Given the description of an element on the screen output the (x, y) to click on. 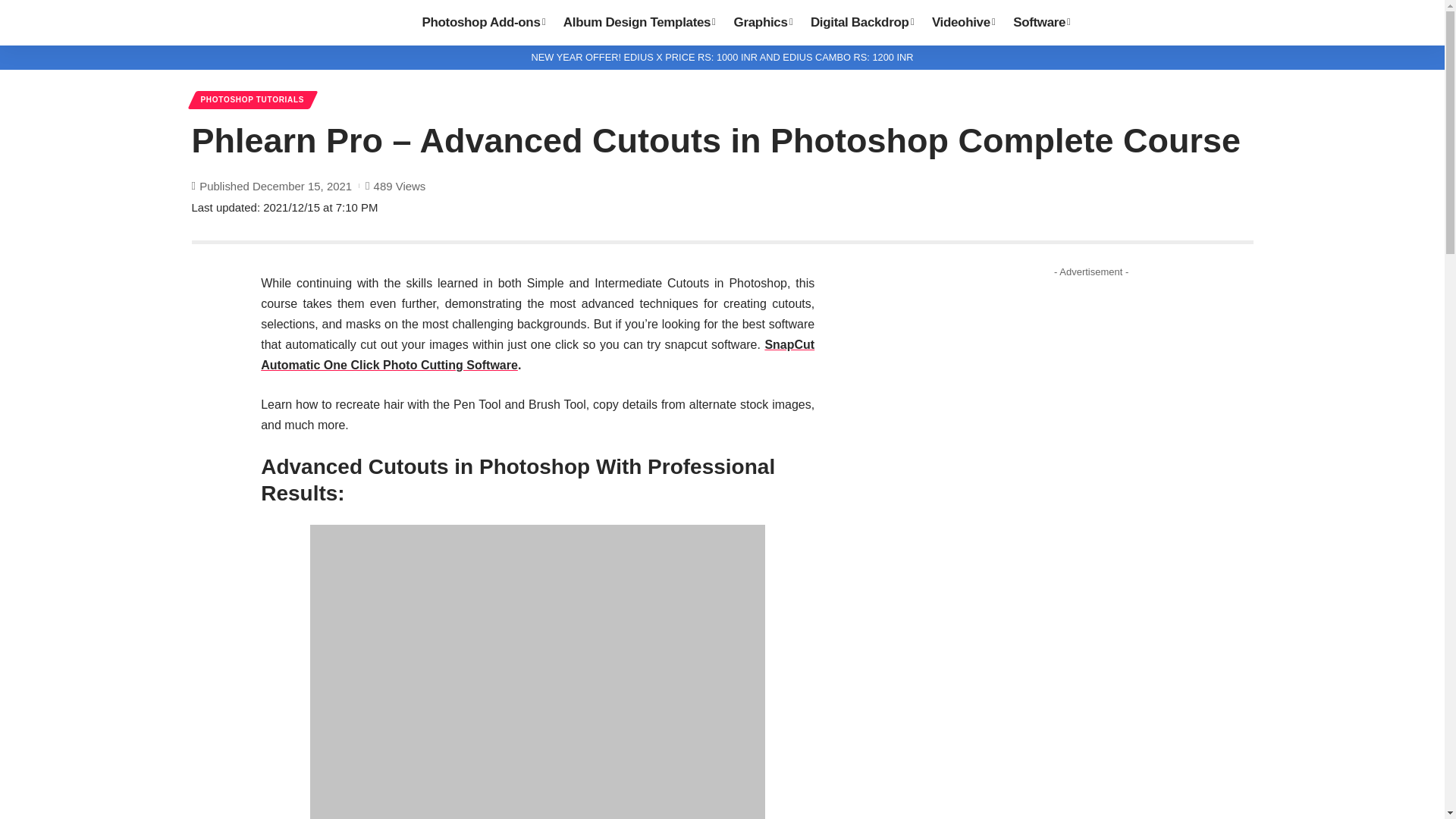
Photoshop Add-ons (482, 22)
Digital Backdrop (862, 22)
Album Design Templates (639, 22)
Advanced Cutouts in Photoshop (537, 671)
Graphics (763, 22)
Luckystudio4u (293, 22)
